Given the description of an element on the screen output the (x, y) to click on. 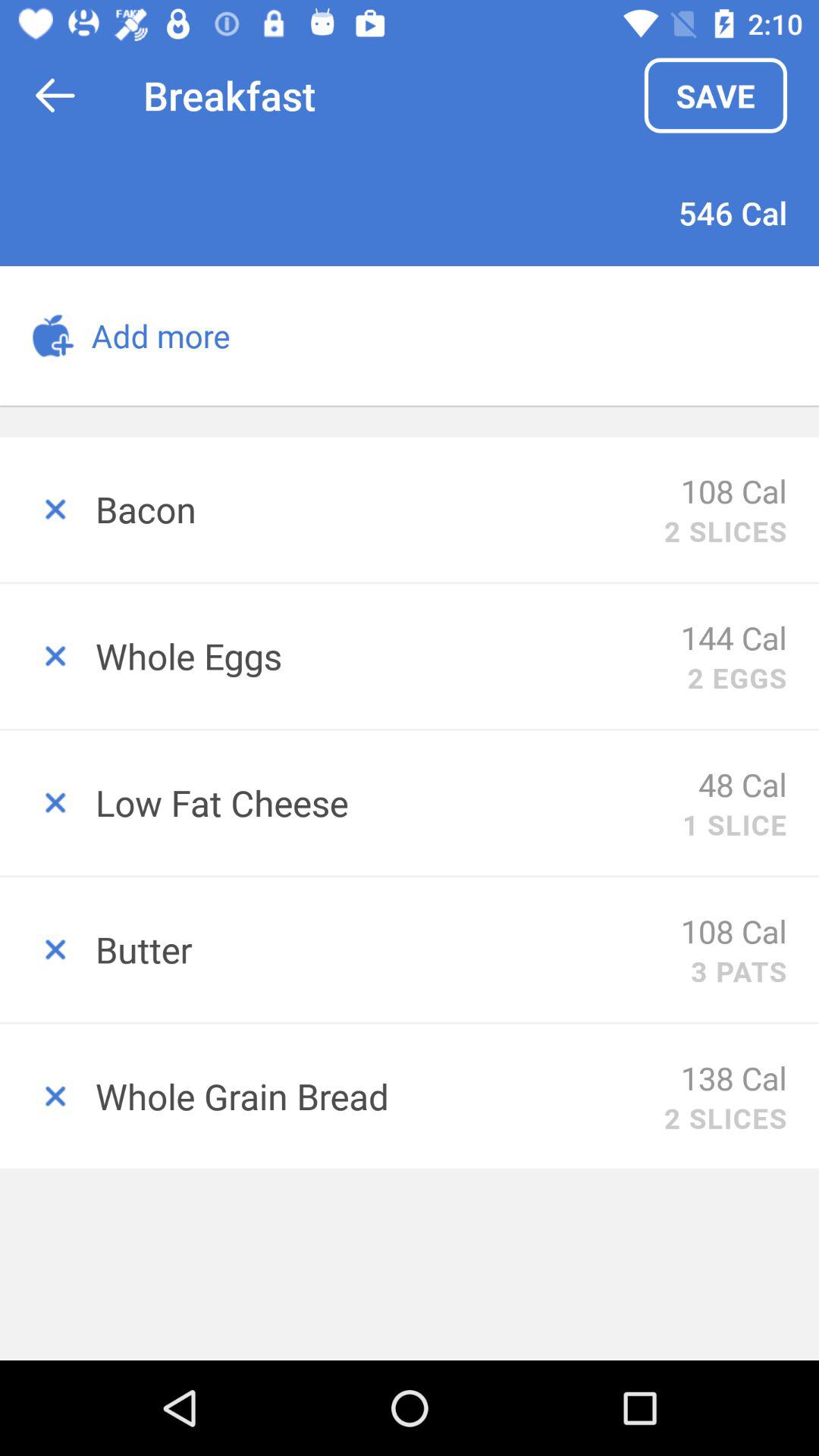
to delete (47, 509)
